Given the description of an element on the screen output the (x, y) to click on. 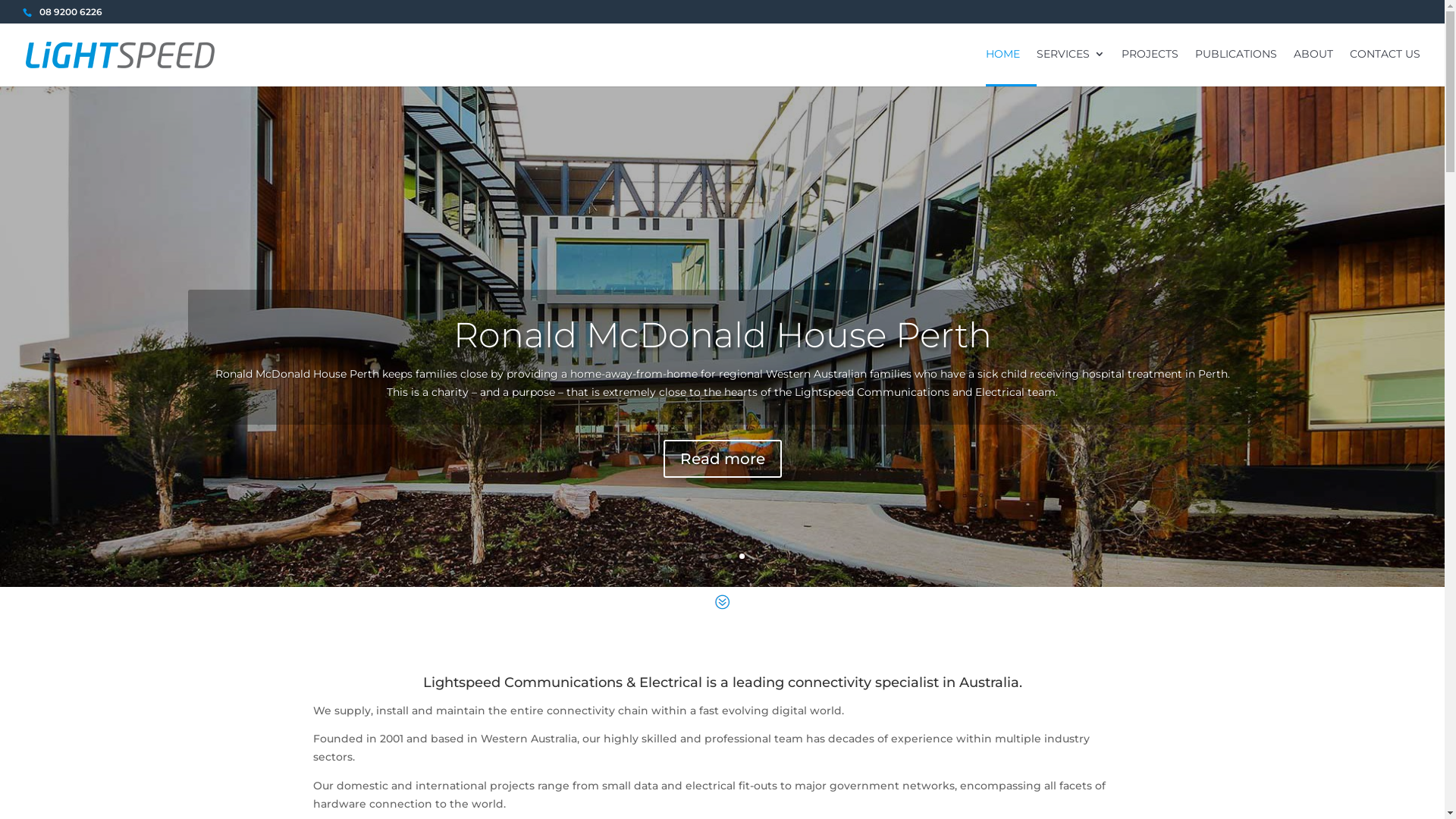
08 9200 6226 Element type: text (70, 11)
Read more Element type: text (721, 458)
CONTACT US Element type: text (1384, 66)
4 Element type: text (740, 555)
PROJECTS Element type: text (1149, 66)
ABOUT Element type: text (1313, 66)
Ronald McDonald House Perth Element type: text (722, 334)
SERVICES Element type: text (1070, 66)
HOME Element type: text (1002, 66)
1 Element type: text (703, 555)
3 Element type: text (728, 555)
2 Element type: text (715, 555)
PUBLICATIONS Element type: text (1236, 66)
